Given the description of an element on the screen output the (x, y) to click on. 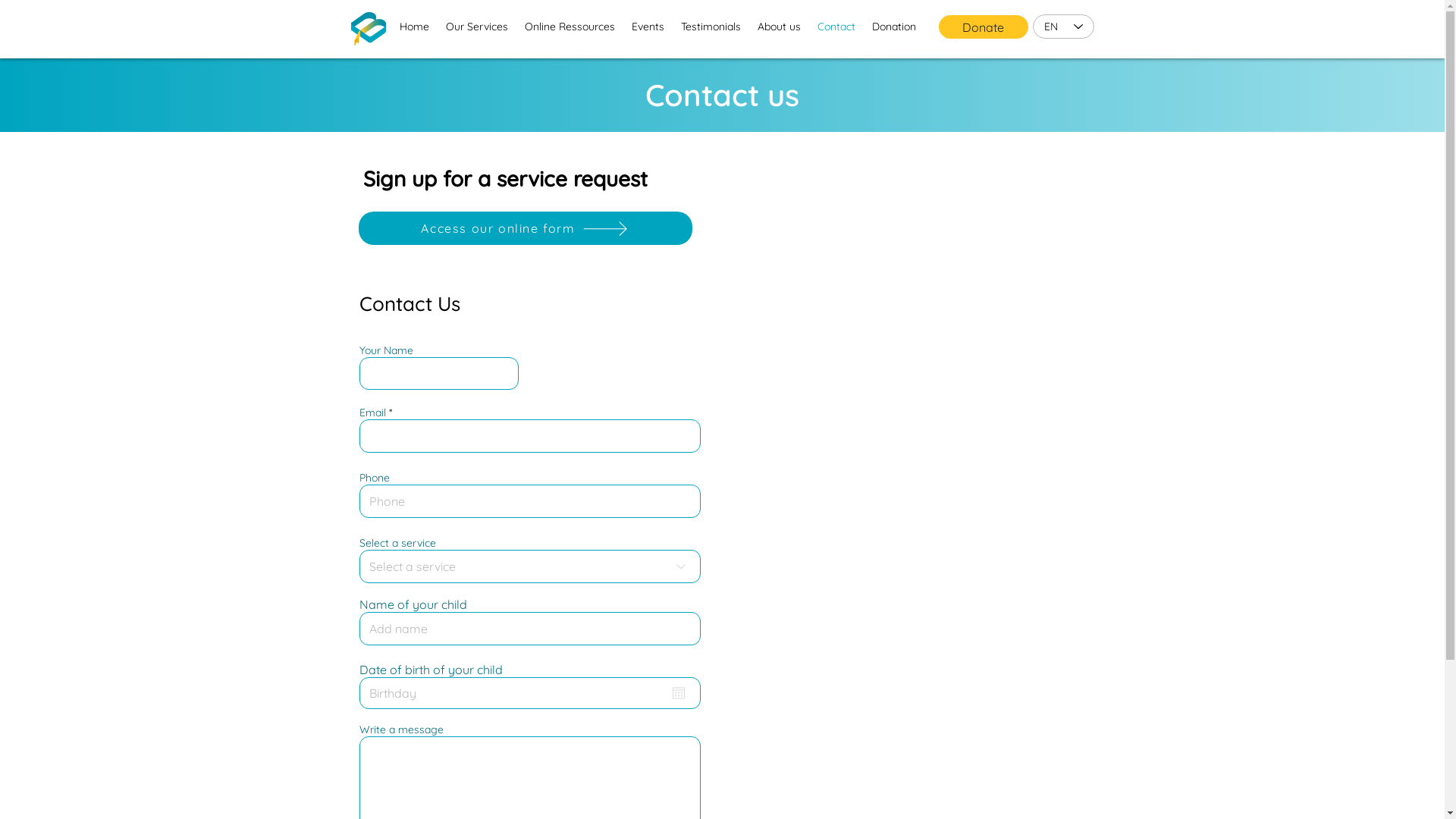
Testimonials Element type: text (709, 26)
Online Ressources Element type: text (568, 26)
Events Element type: text (647, 26)
Donation Element type: text (892, 26)
Access our online form Element type: text (524, 227)
Contact Element type: text (835, 26)
Home Element type: text (414, 26)
About us Element type: text (779, 26)
Donate Element type: text (983, 26)
Our Services Element type: text (475, 26)
